Given the description of an element on the screen output the (x, y) to click on. 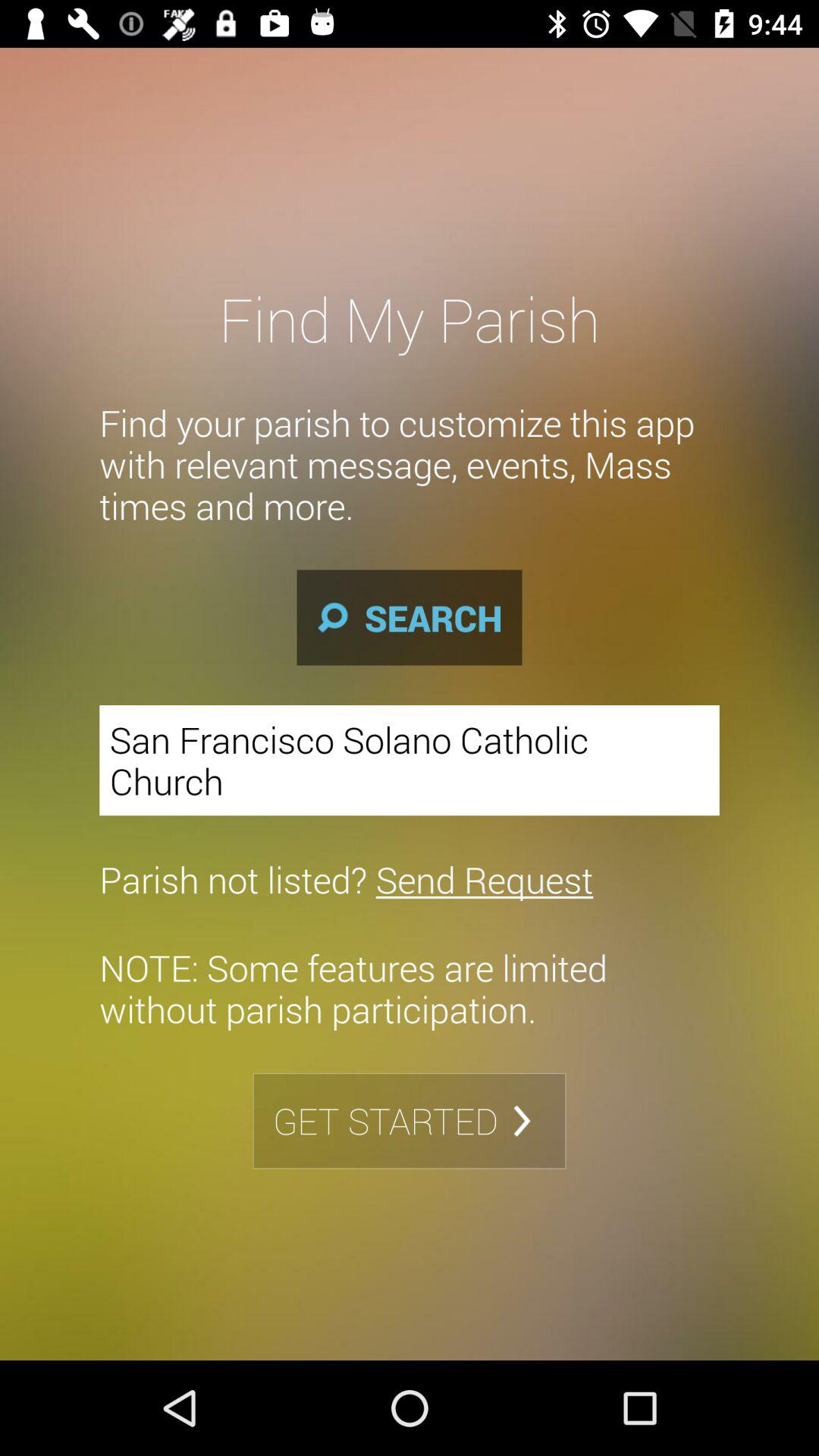
open the item above the san francisco solano (409, 617)
